Given the description of an element on the screen output the (x, y) to click on. 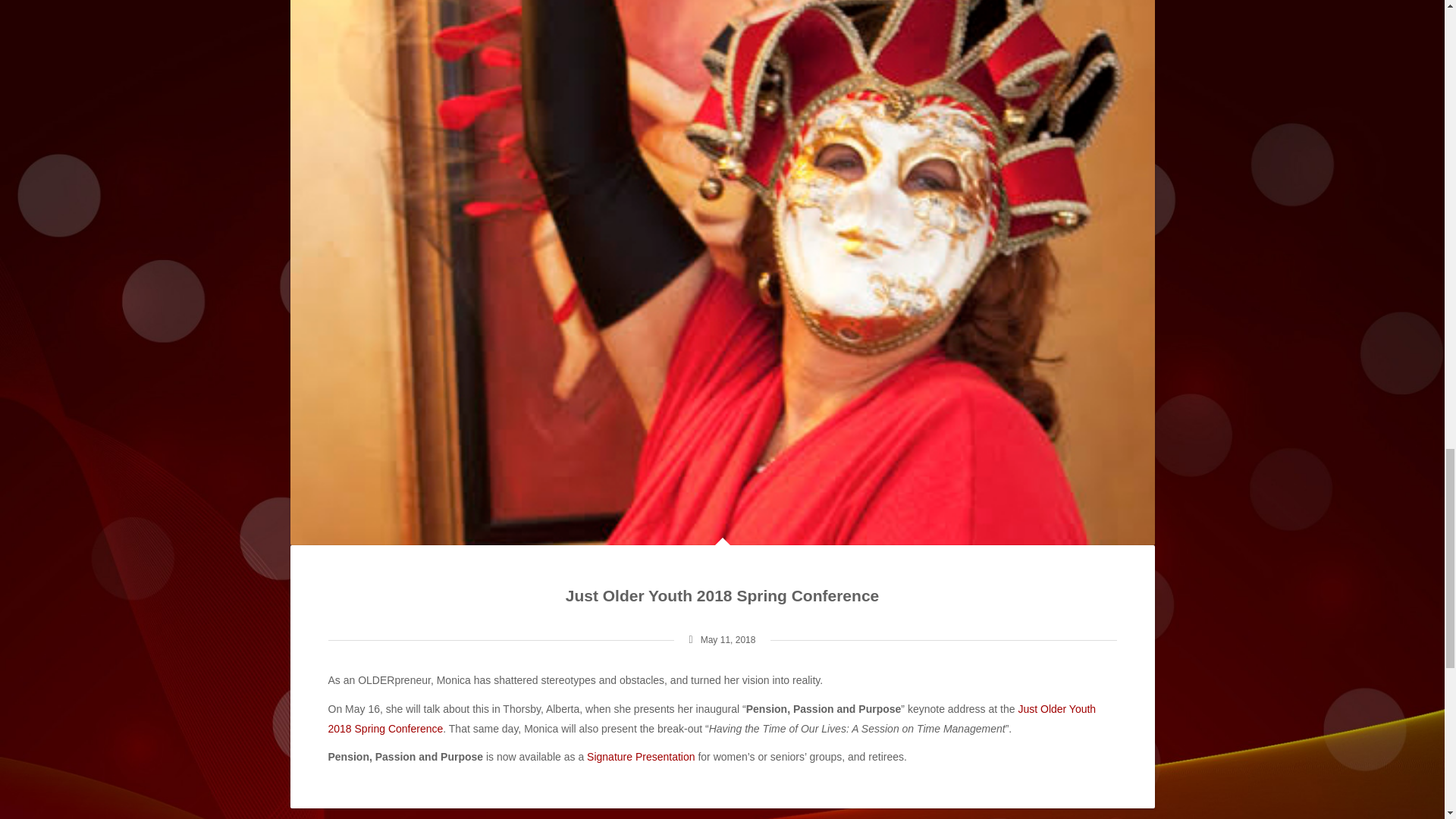
Signature Presentation (640, 756)
Just Older Youth 2018 Spring Conference (722, 595)
Just Older Youth 2018 Spring Conference (711, 717)
